Given the description of an element on the screen output the (x, y) to click on. 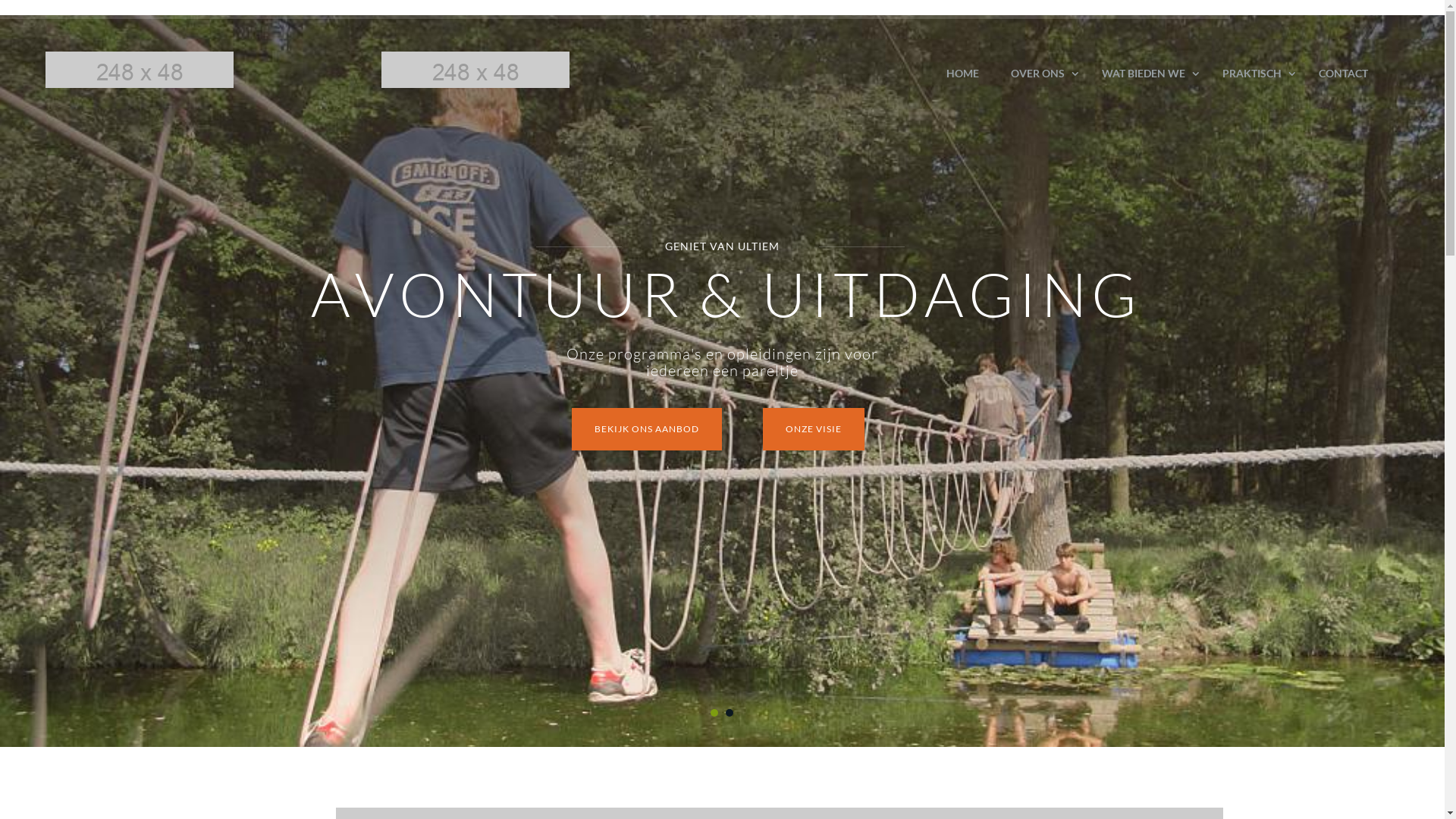
OVER ONS Element type: text (1039, 72)
ONZE VISIE Element type: text (813, 428)
BEKIJK ONS AANBOD Element type: text (646, 428)
PRAKTISCH Element type: text (1254, 72)
CONTACT Element type: text (1342, 72)
WAT BIEDEN WE Element type: text (1145, 72)
HOME Element type: text (962, 72)
